Given the description of an element on the screen output the (x, y) to click on. 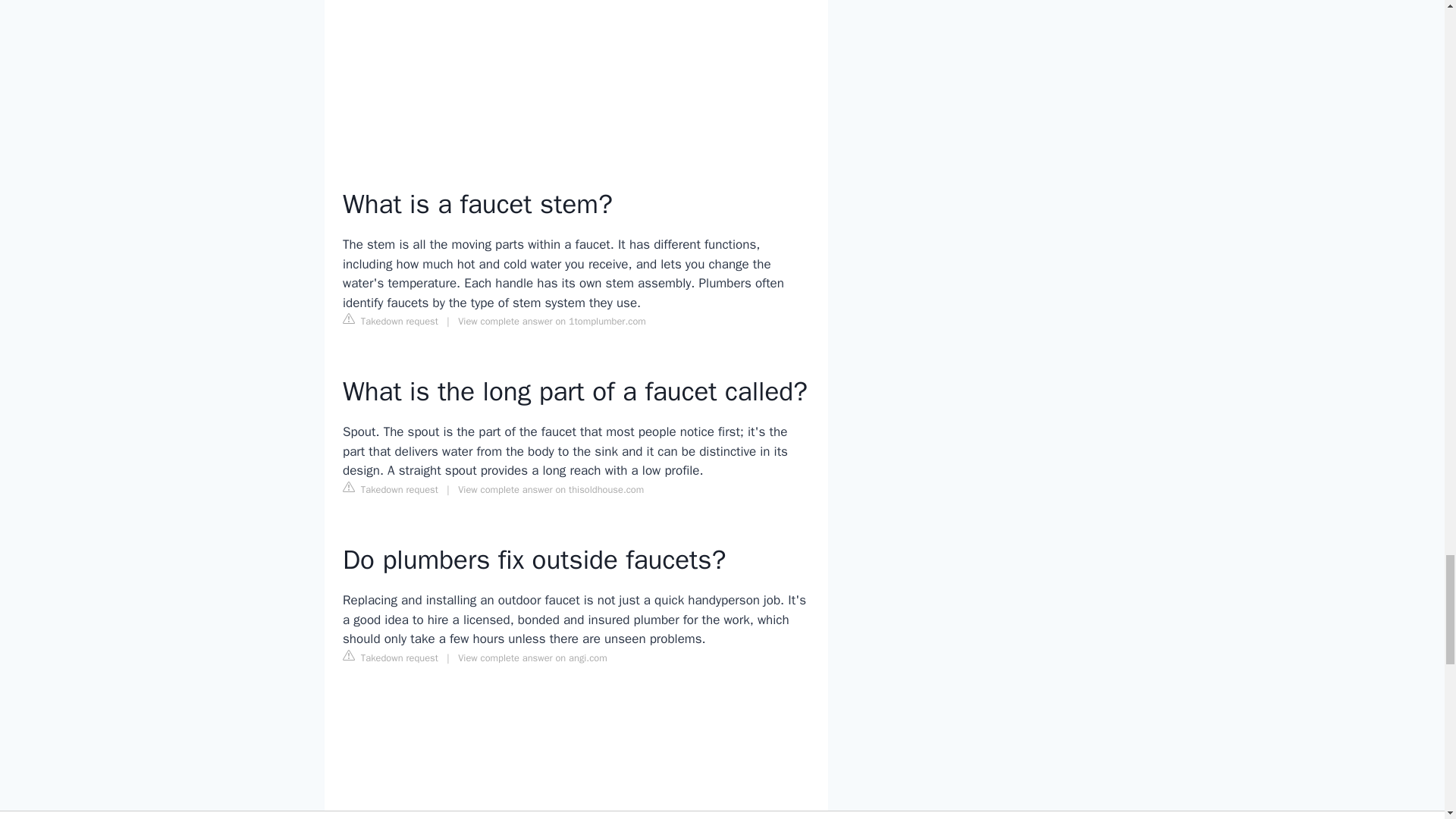
Takedown request (390, 488)
Takedown request (390, 320)
View complete answer on angi.com (532, 657)
View complete answer on thisoldhouse.com (550, 490)
Takedown request (390, 657)
View complete answer on 1tomplumber.com (552, 321)
